Given the description of an element on the screen output the (x, y) to click on. 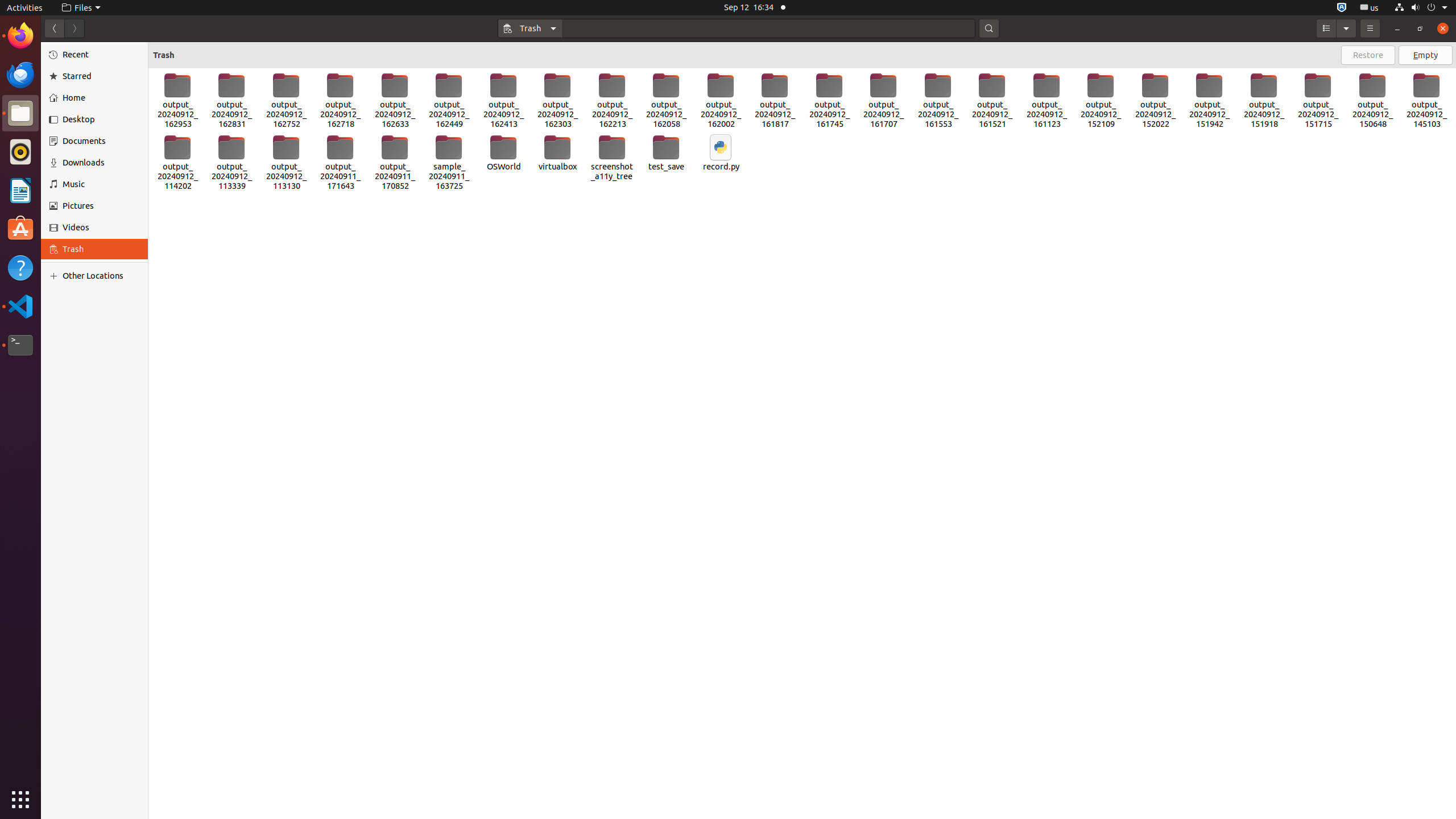
output_20240912_161707 Element type: canvas (883, 100)
output_20240912_114202 Element type: canvas (177, 162)
output_20240912_151942 Element type: canvas (1209, 100)
Desktop Element type: label (100, 119)
